Given the description of an element on the screen output the (x, y) to click on. 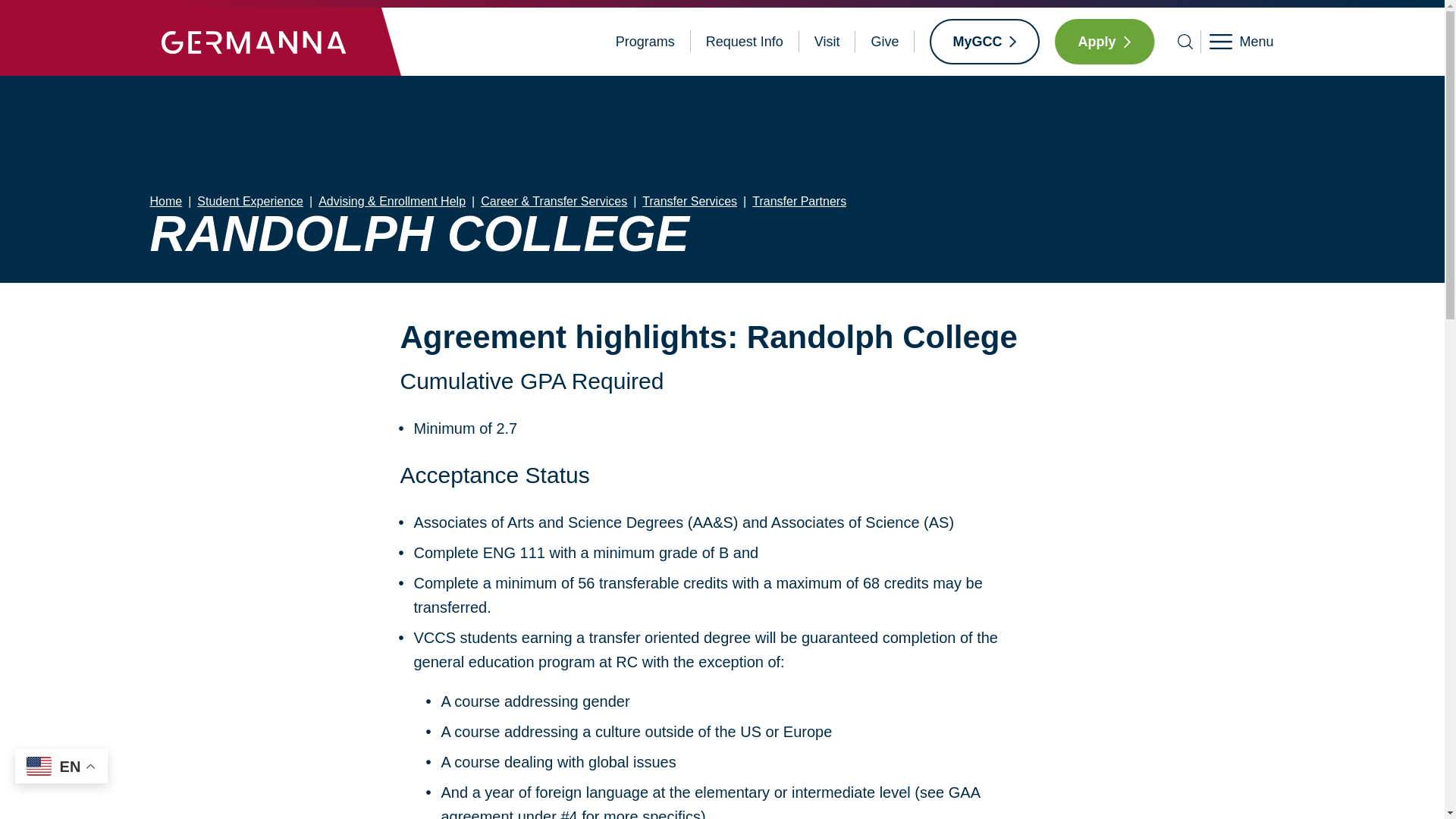
Give (885, 41)
Visit (827, 41)
Apply (1104, 41)
Request Info (744, 41)
Home (253, 41)
MyGCC (984, 41)
Programs (644, 41)
